Given the description of an element on the screen output the (x, y) to click on. 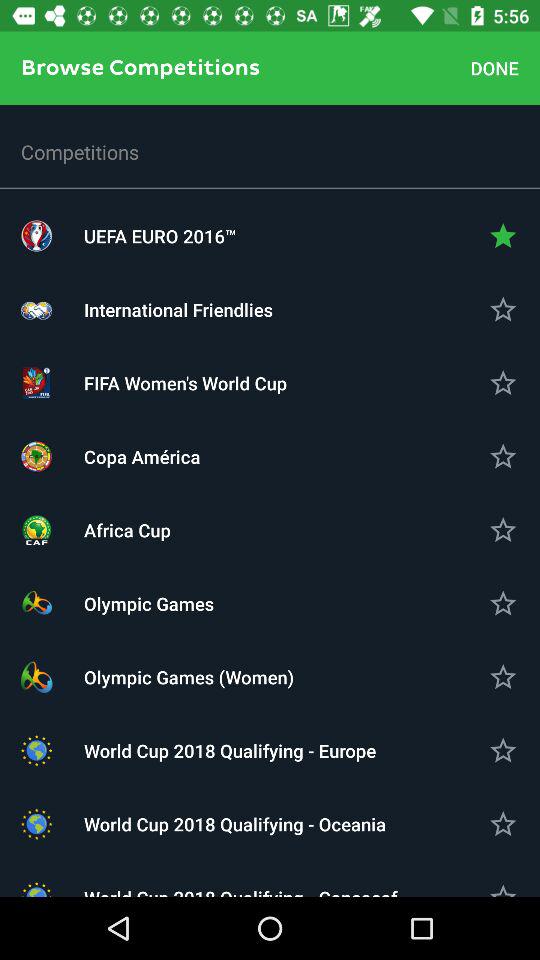
turn on item below the competitions item (270, 235)
